Given the description of an element on the screen output the (x, y) to click on. 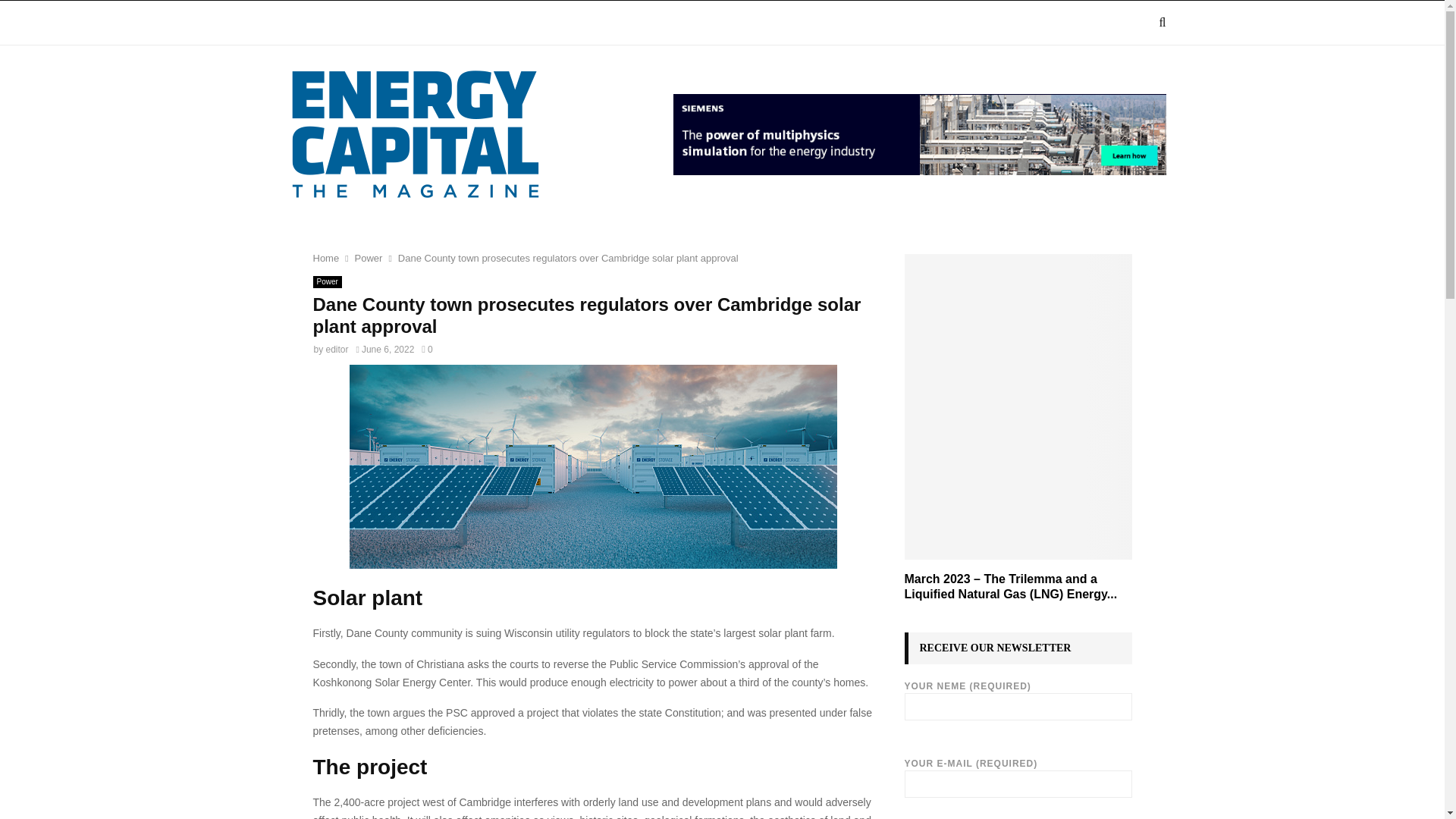
HOME (308, 22)
MAGAZINE (383, 22)
SECTORS (474, 22)
